Given the description of an element on the screen output the (x, y) to click on. 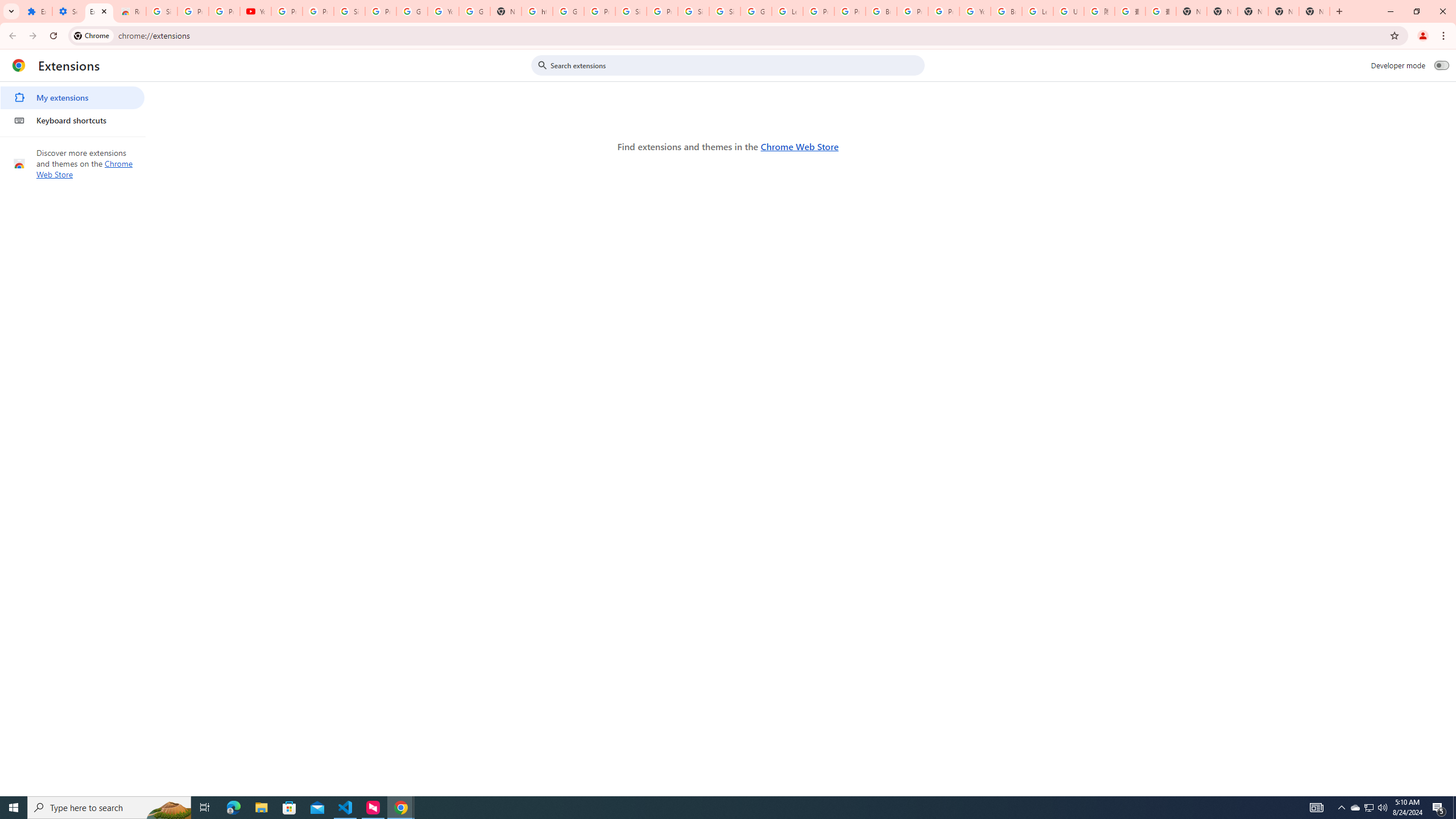
New Tab (1314, 11)
Sign in - Google Accounts (161, 11)
Sign in - Google Accounts (724, 11)
Reviews: Helix Fruit Jump Arcade Game (130, 11)
Privacy Help Center - Policies Help (818, 11)
